Given the description of an element on the screen output the (x, y) to click on. 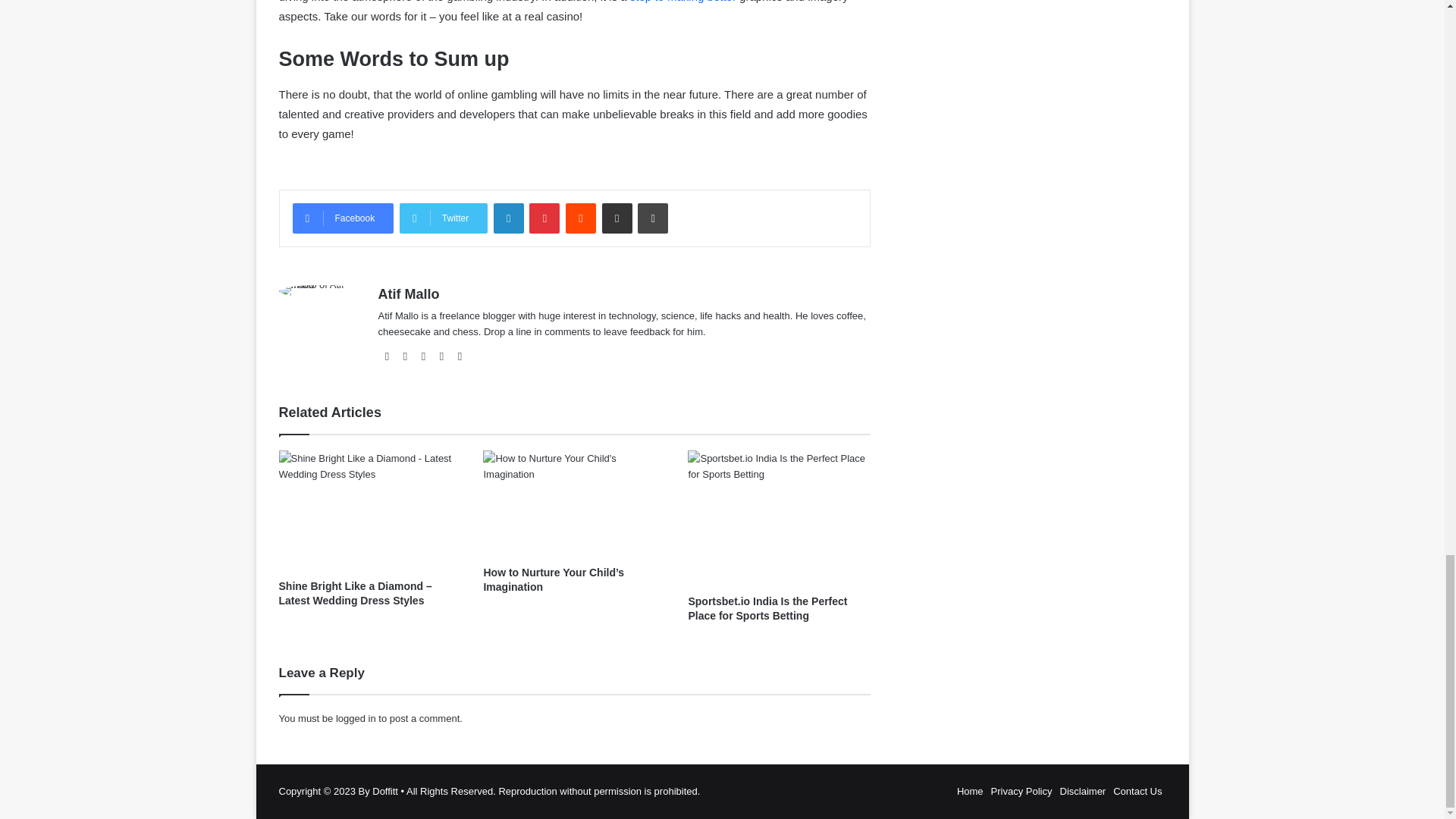
step to making better (683, 1)
